Given the description of an element on the screen output the (x, y) to click on. 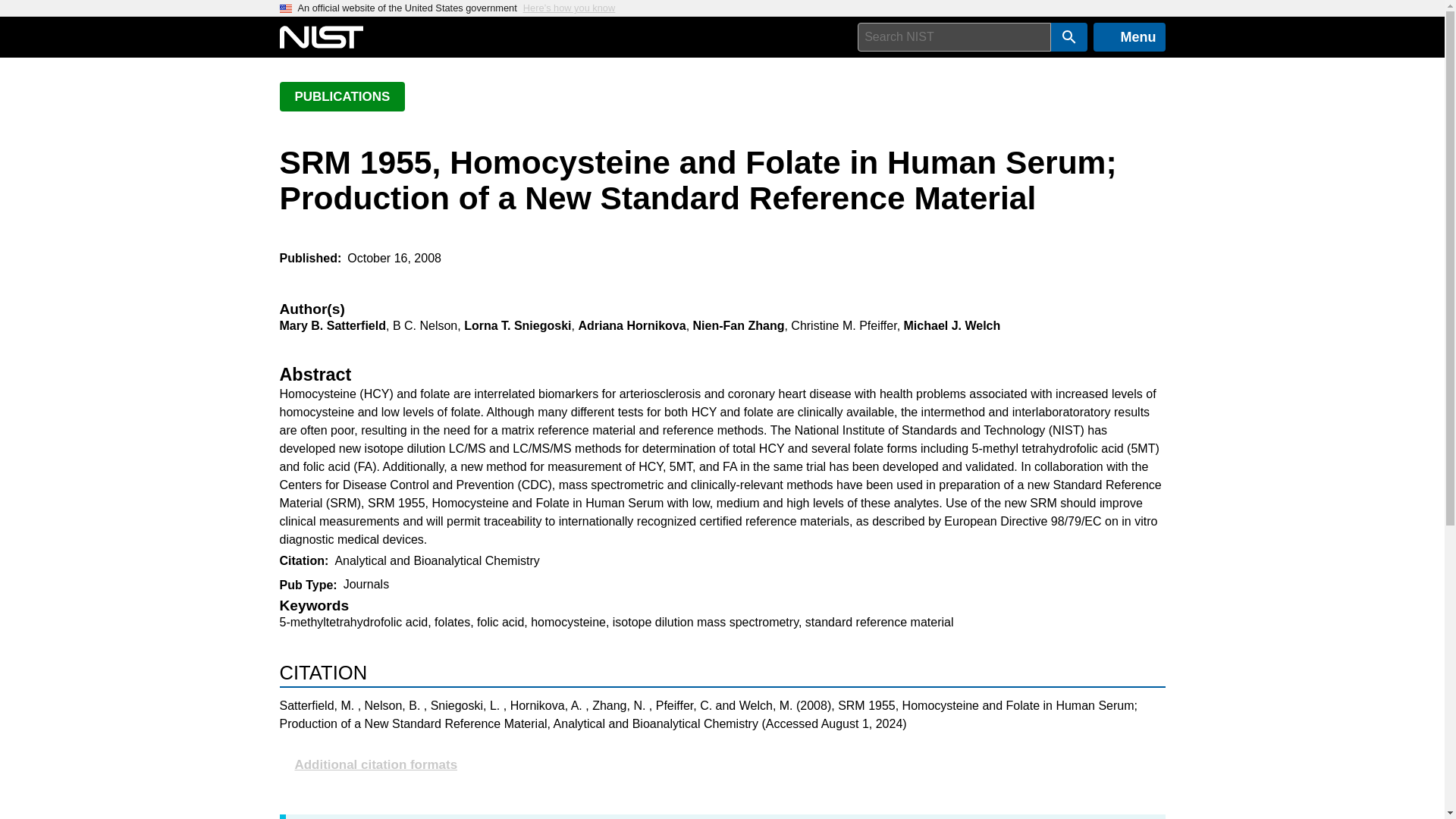
National Institute of Standards and Technology (320, 36)
Additional citation formats (721, 764)
PUBLICATIONS (341, 96)
Menu (1129, 36)
